Given the description of an element on the screen output the (x, y) to click on. 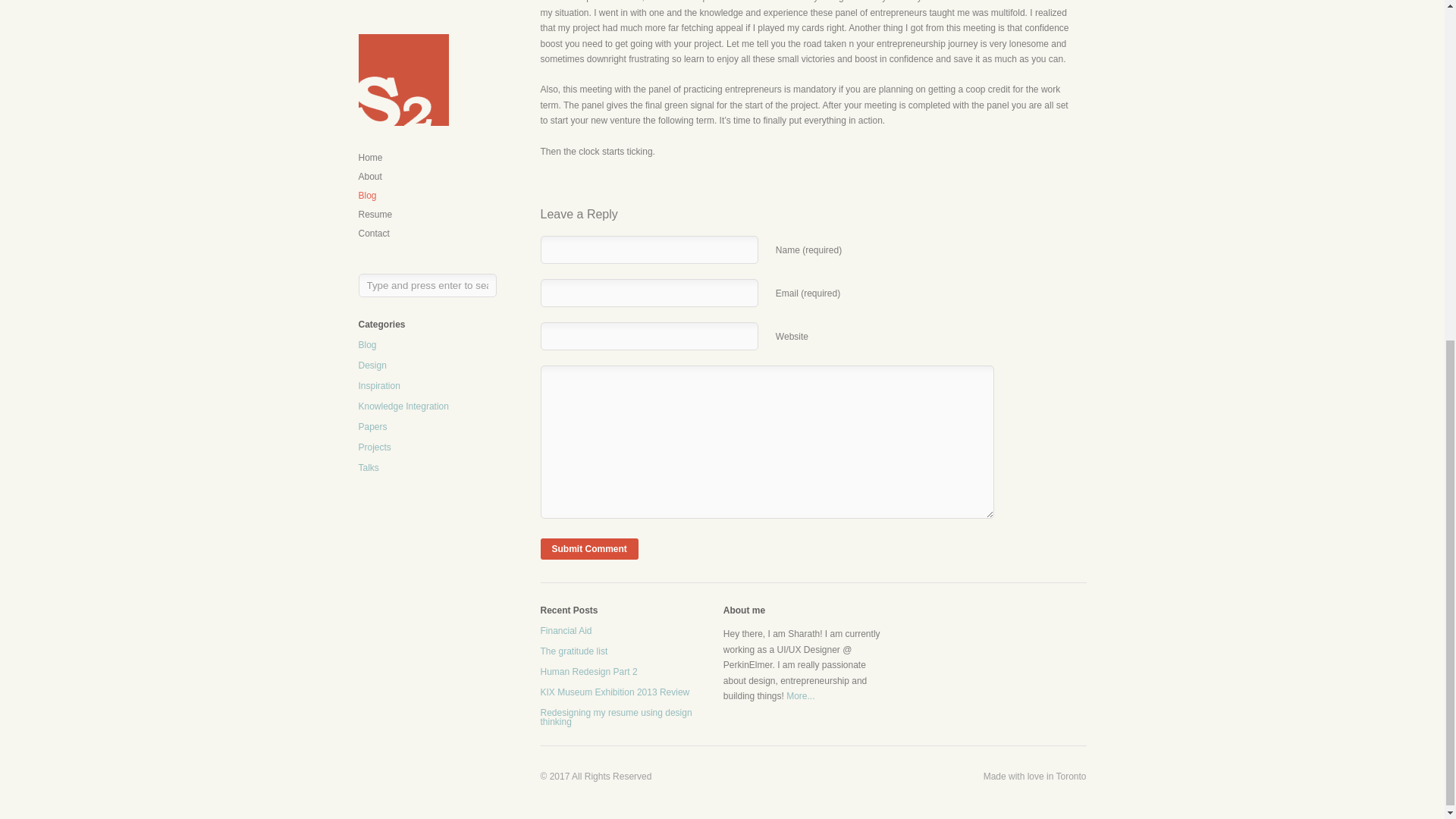
Financial Aid (565, 630)
More... (799, 696)
KIX Museum Exhibition 2013 Review (614, 692)
The gratitude list (573, 651)
Submit Comment (588, 548)
Redesigning my resume using design thinking (615, 717)
Human Redesign Part 2 (588, 671)
Submit Comment (588, 548)
